Given the description of an element on the screen output the (x, y) to click on. 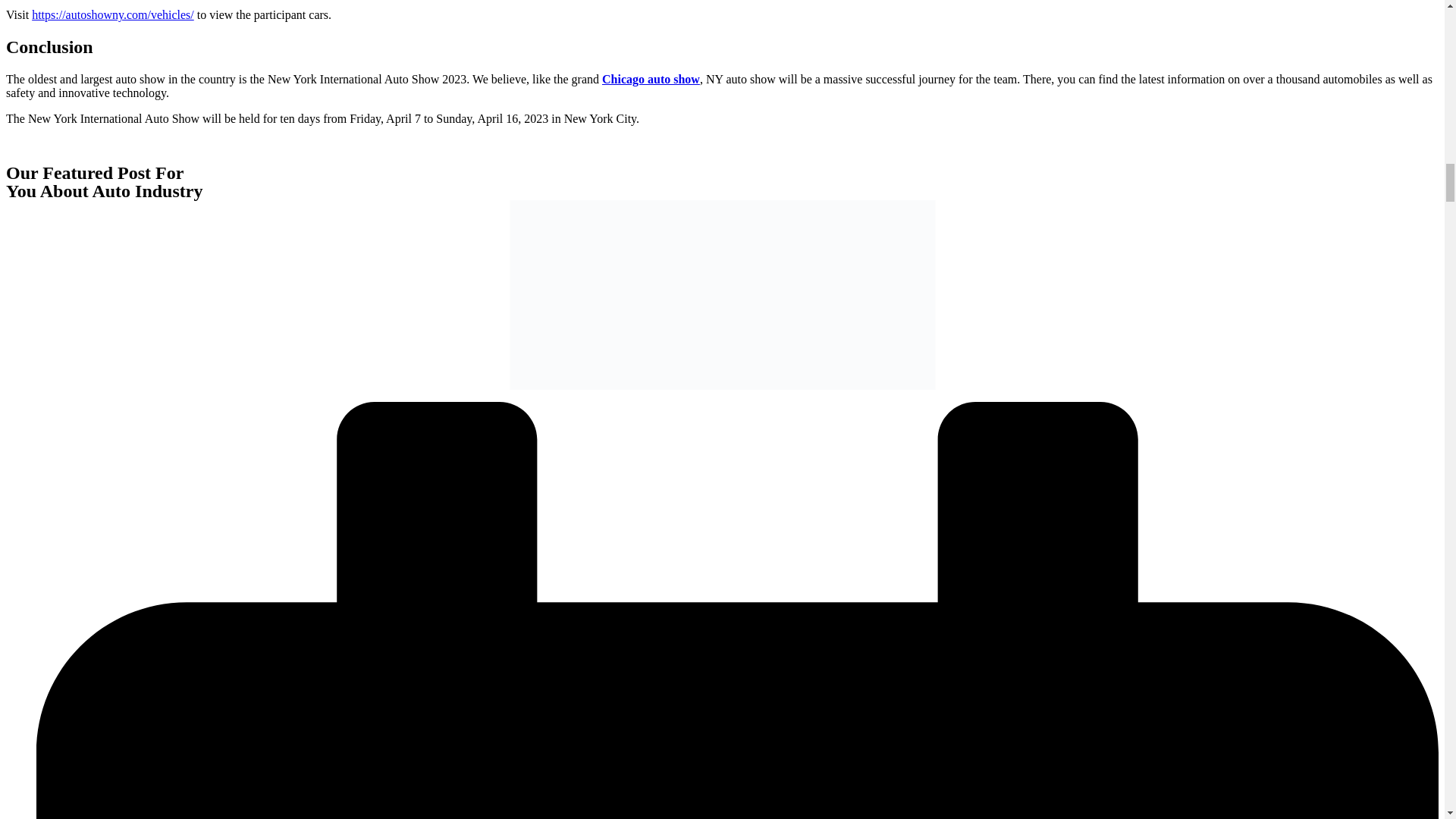
Chicago auto show (651, 78)
